Given the description of an element on the screen output the (x, y) to click on. 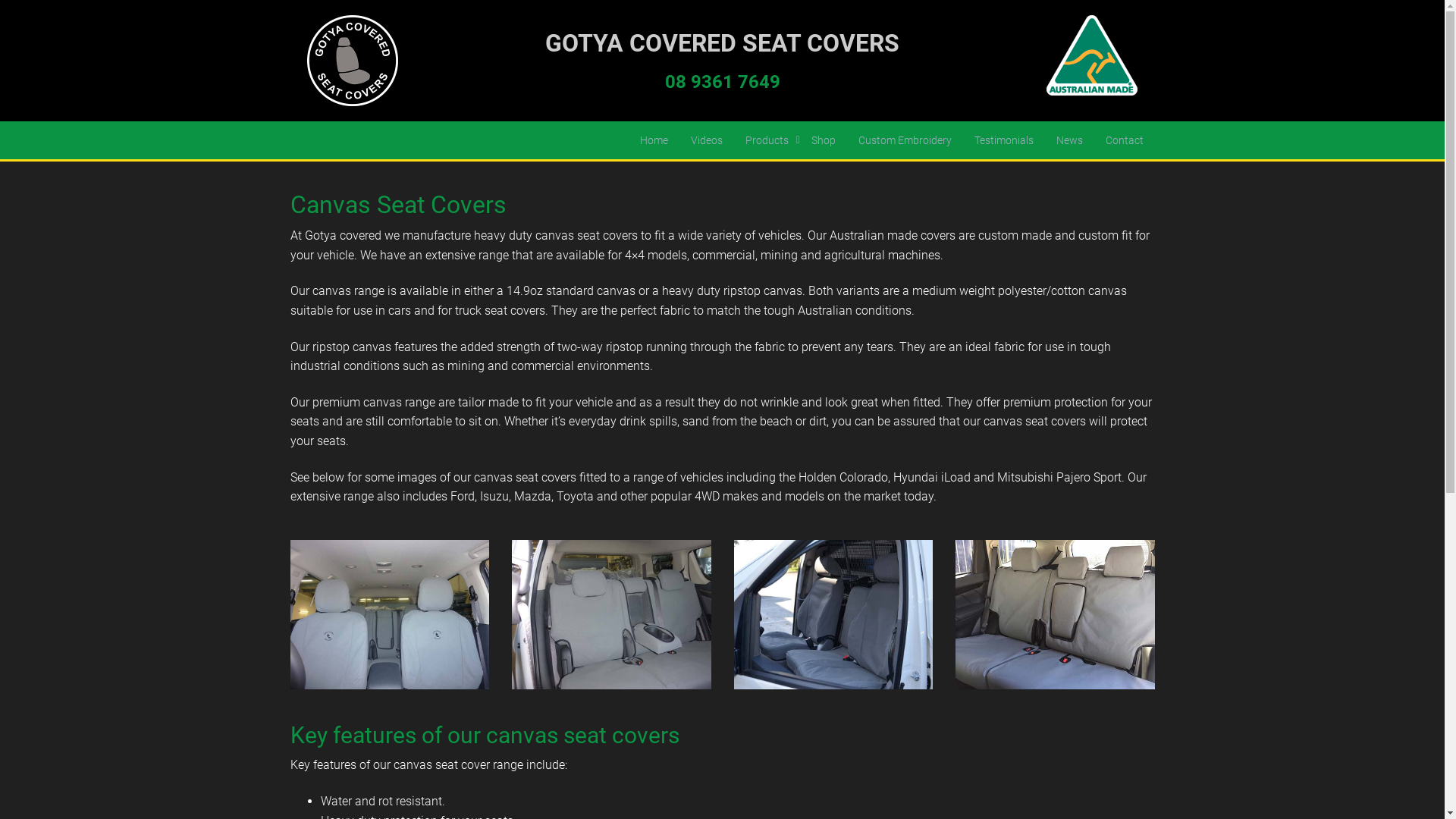
Videos Element type: text (706, 140)
News Element type: text (1069, 140)
Custom Embroidery Element type: text (904, 140)
Home Element type: text (652, 140)
Shop Element type: text (822, 140)
Testimonials Element type: text (1003, 140)
Contact Element type: text (1123, 140)
Products Element type: text (767, 140)
